Given the description of an element on the screen output the (x, y) to click on. 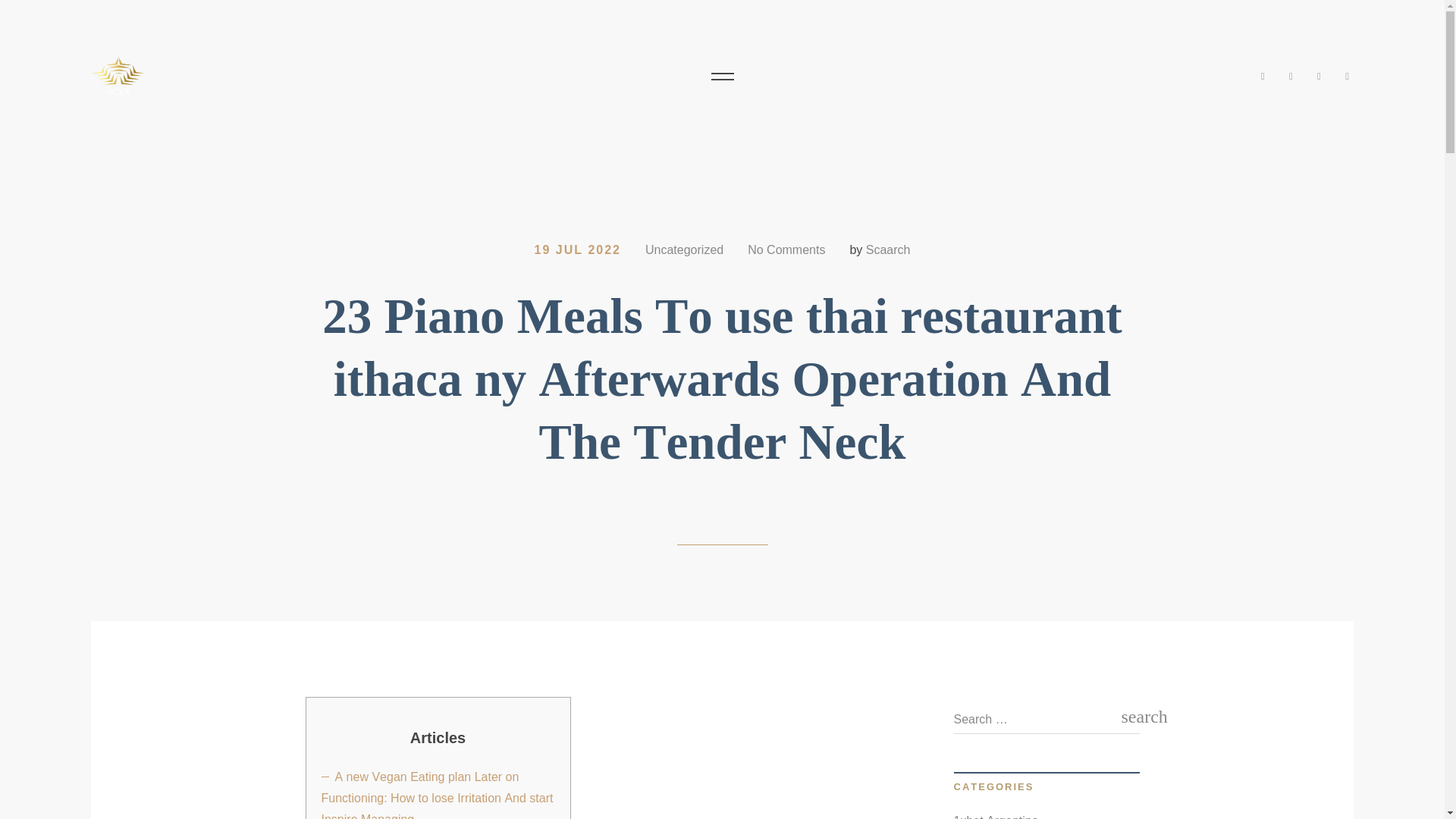
Scaarch (888, 249)
No Comments (786, 249)
19 JUL 2022 (577, 249)
Uncategorized (684, 249)
1xbet Argentina (996, 814)
search (1129, 715)
